Given the description of an element on the screen output the (x, y) to click on. 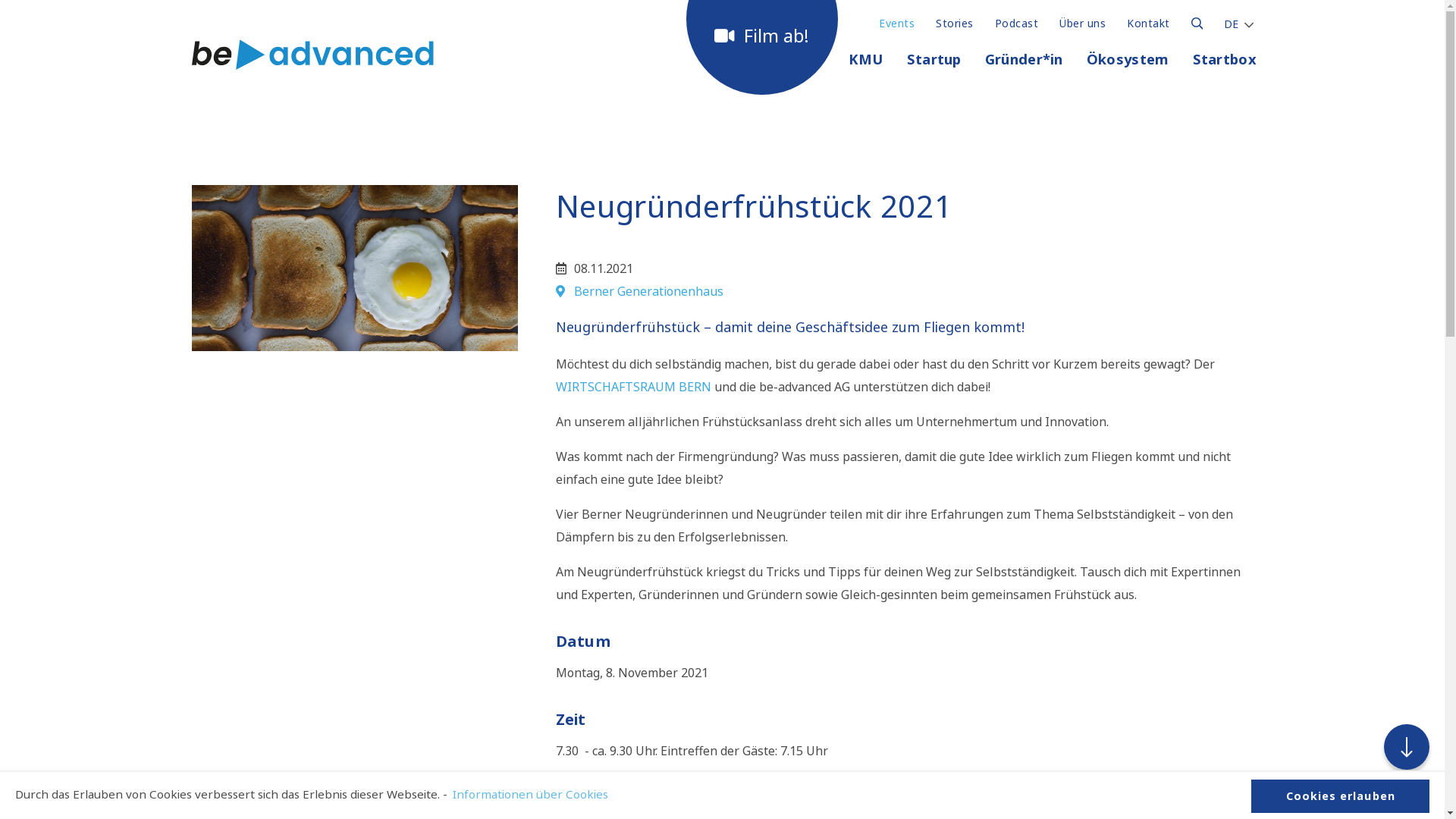
Cookies erlauben Element type: text (1340, 795)
DE Element type: text (1233, 22)
Startbox Element type: text (1223, 63)
Zum Inhalt Element type: hover (1406, 746)
KMU Element type: text (865, 63)
Home Element type: hover (312, 63)
Podcast Element type: text (1016, 20)
Stories Element type: text (954, 20)
Events Element type: text (896, 20)
Logo be-advanced AG Element type: hover (312, 54)
Startup Element type: text (933, 63)
Details Element type: hover (1197, 20)
Kontakt Element type: text (1147, 20)
